Given the description of an element on the screen output the (x, y) to click on. 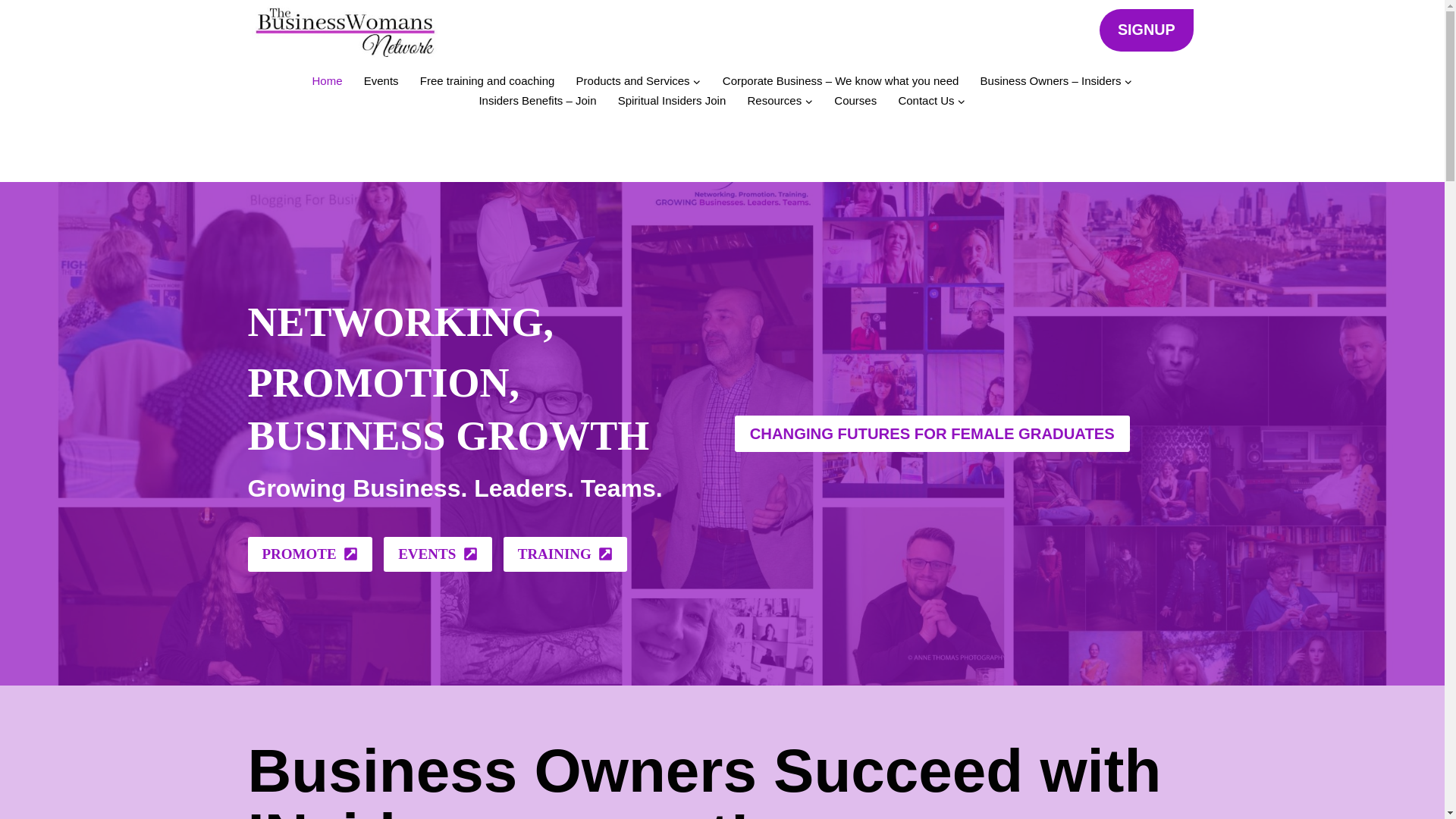
Home (326, 80)
Products and Services (637, 80)
TRAINING (565, 554)
CHANGING FUTURES FOR FEMALE GRADUATES (931, 433)
Courses (855, 100)
PROMOTE (309, 554)
Free training and coaching (487, 80)
Resources (780, 100)
Spiritual Insiders Join (671, 100)
SIGNUP (1145, 29)
Events (381, 80)
Contact Us (930, 100)
EVENTS (438, 554)
